Given the description of an element on the screen output the (x, y) to click on. 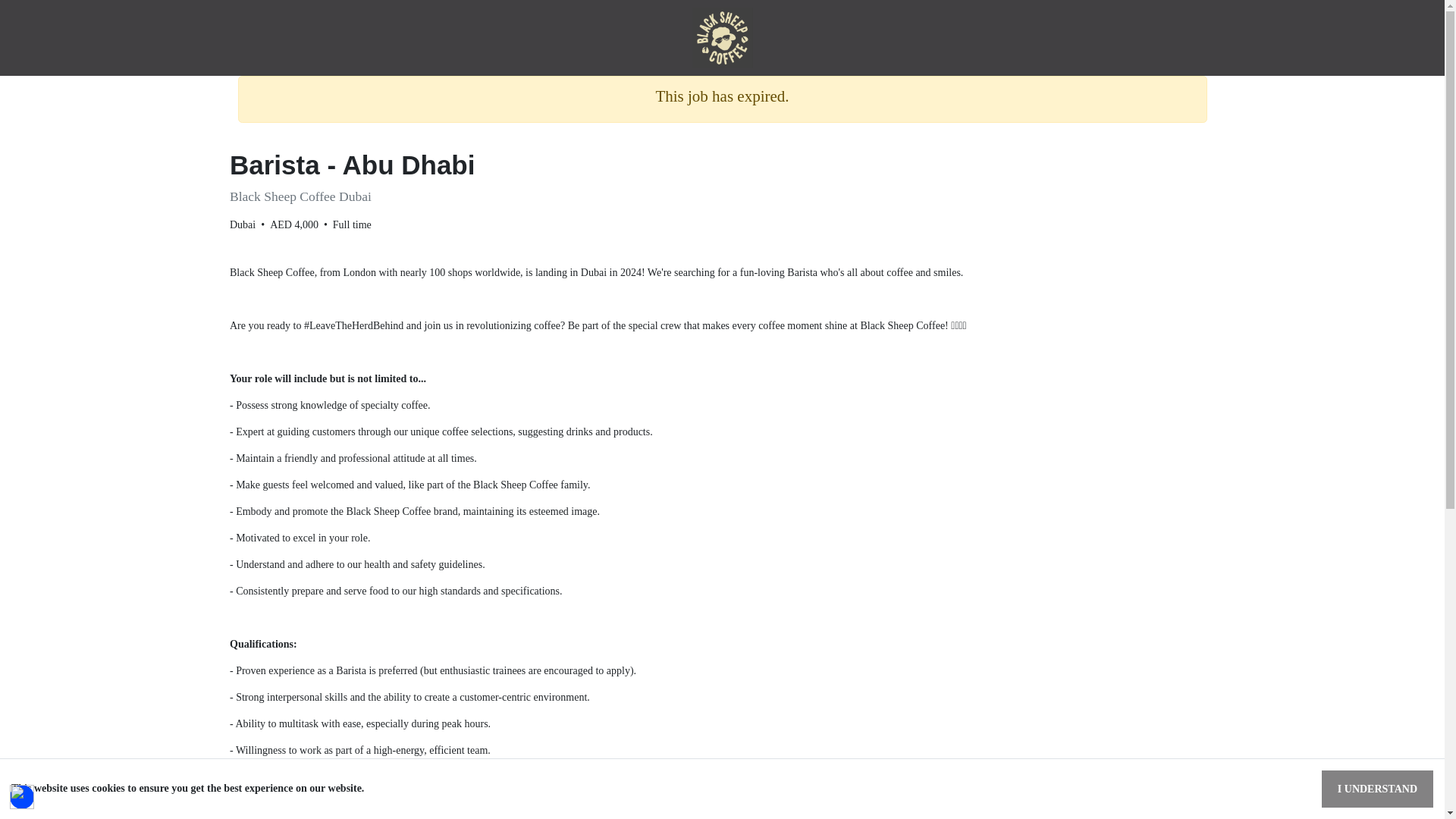
Accessibility Menu (21, 796)
I UNDERSTAND (1377, 788)
